Given the description of an element on the screen output the (x, y) to click on. 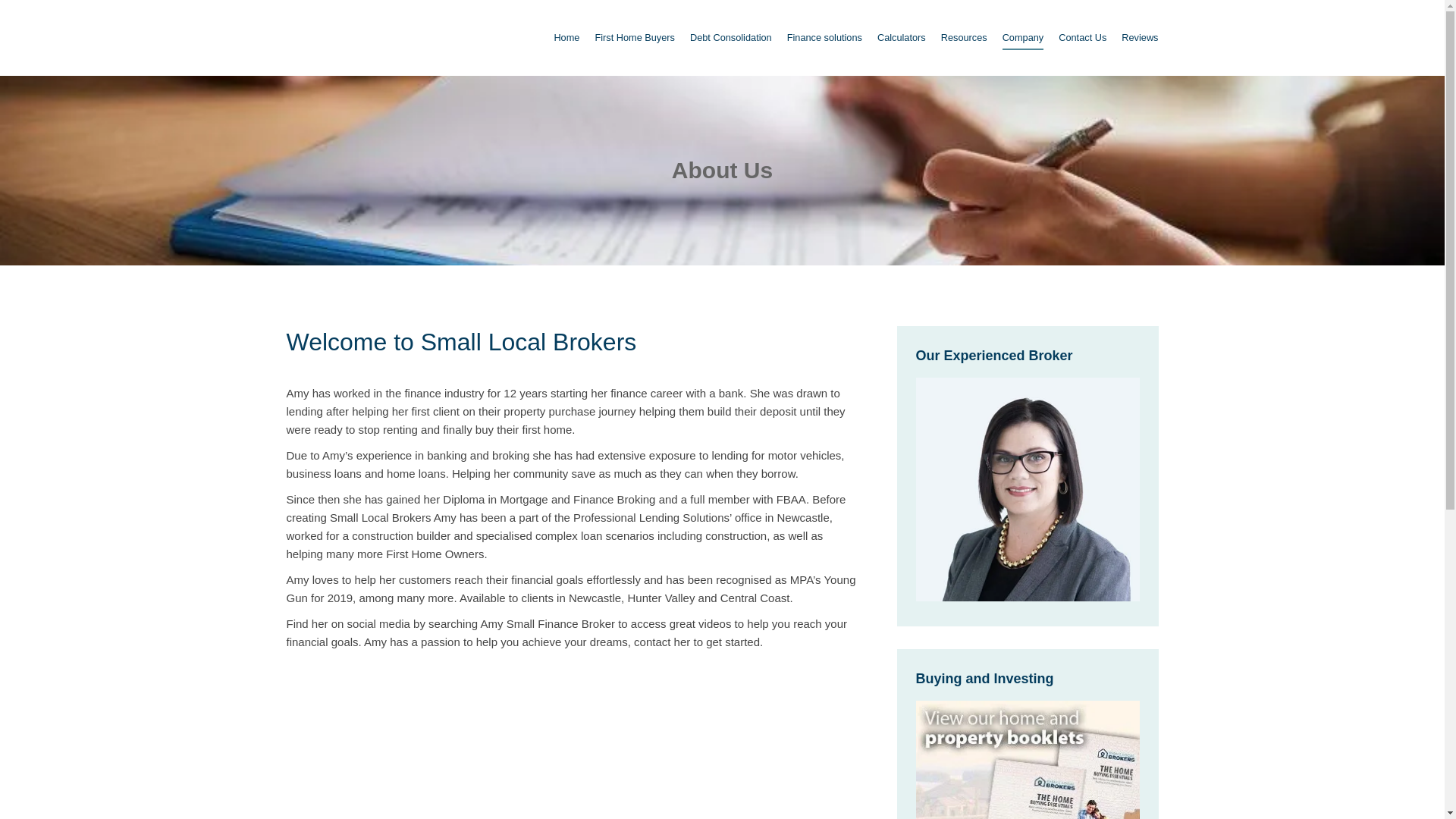
Finance solutions (824, 37)
First Home Buyers (634, 37)
One to One Brokers (1027, 489)
Debt Consolidation (730, 37)
